Given the description of an element on the screen output the (x, y) to click on. 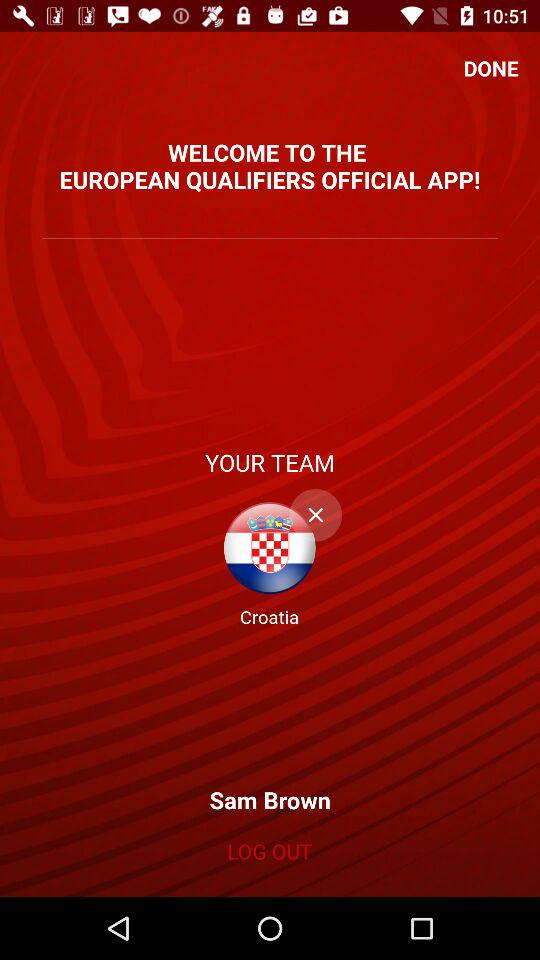
launch done at the top right corner (491, 68)
